Given the description of an element on the screen output the (x, y) to click on. 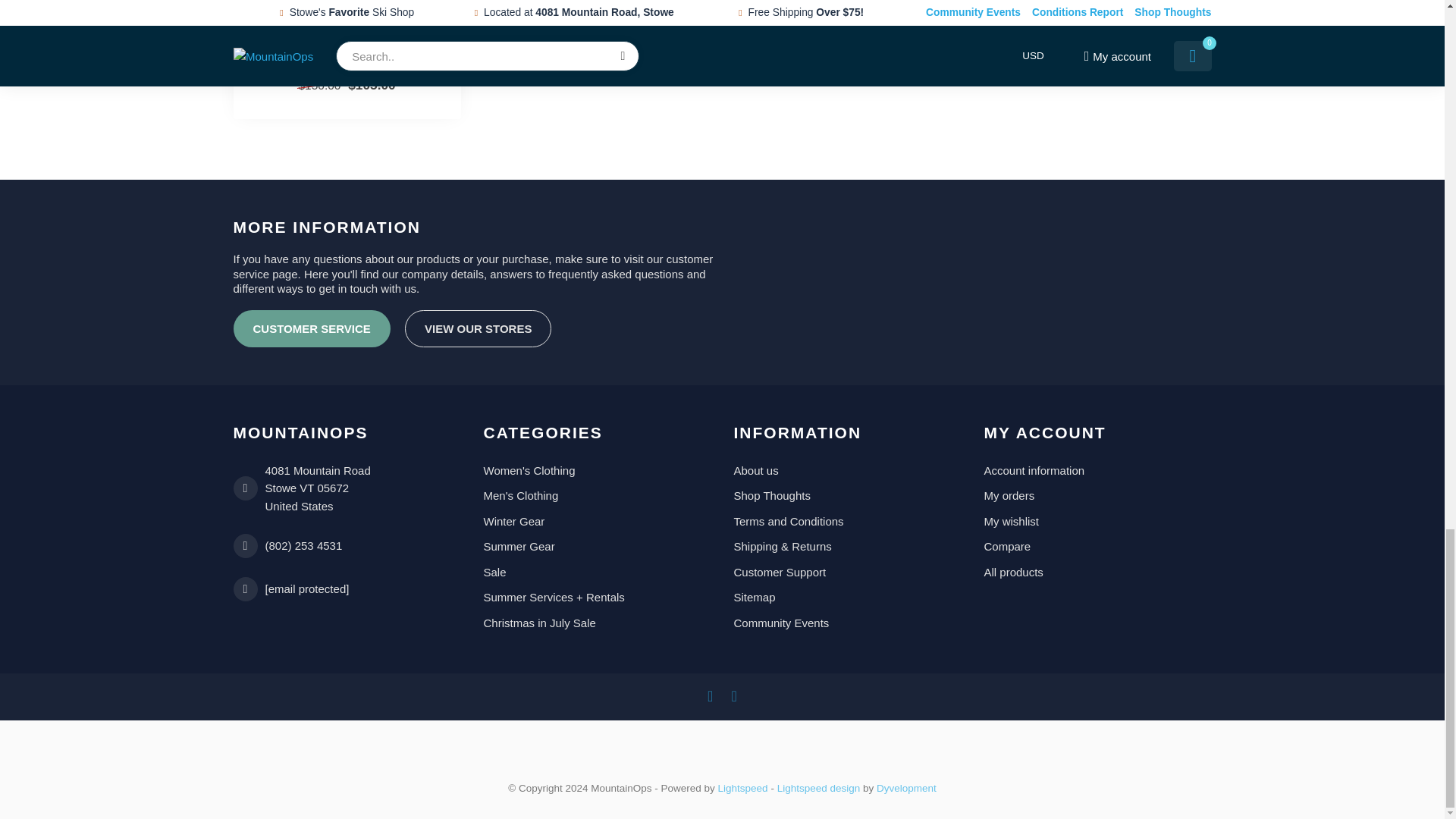
Community Events (846, 623)
All products (1097, 572)
Credit Card (723, 757)
About us (846, 470)
My wishlist (1097, 521)
Sitemap (846, 597)
Shop Thoughts  (846, 495)
Terms and Conditions  (846, 521)
Account information (1097, 470)
Salomon Salomon Women's Aero Volt Running Shoes (346, 8)
Compare (1097, 546)
Customer Support (846, 572)
Salomon Salomon Women's Aero Volt Running Shoes (346, 52)
My orders (1097, 495)
